Given the description of an element on the screen output the (x, y) to click on. 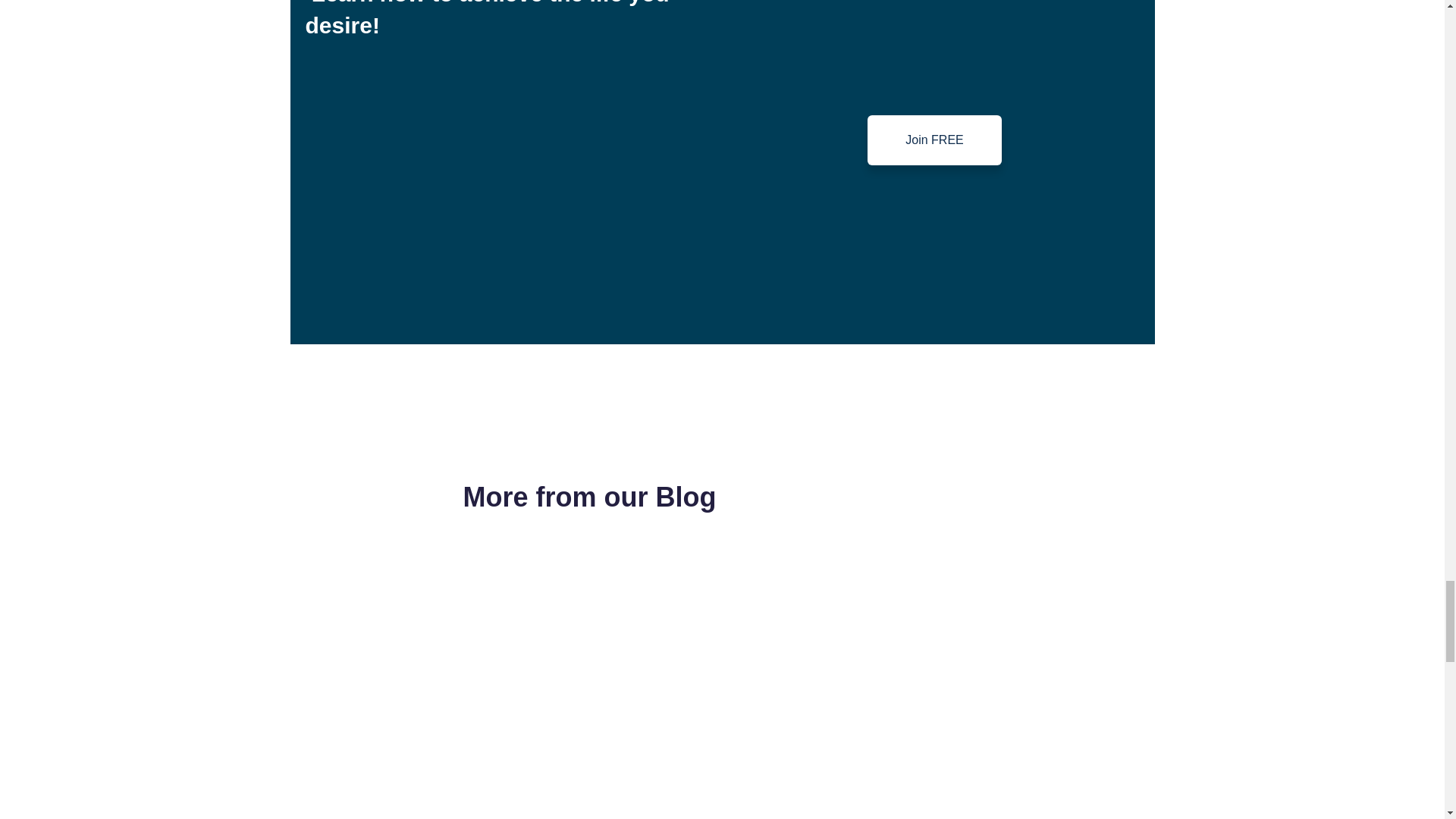
Join FREE (934, 140)
